Given the description of an element on the screen output the (x, y) to click on. 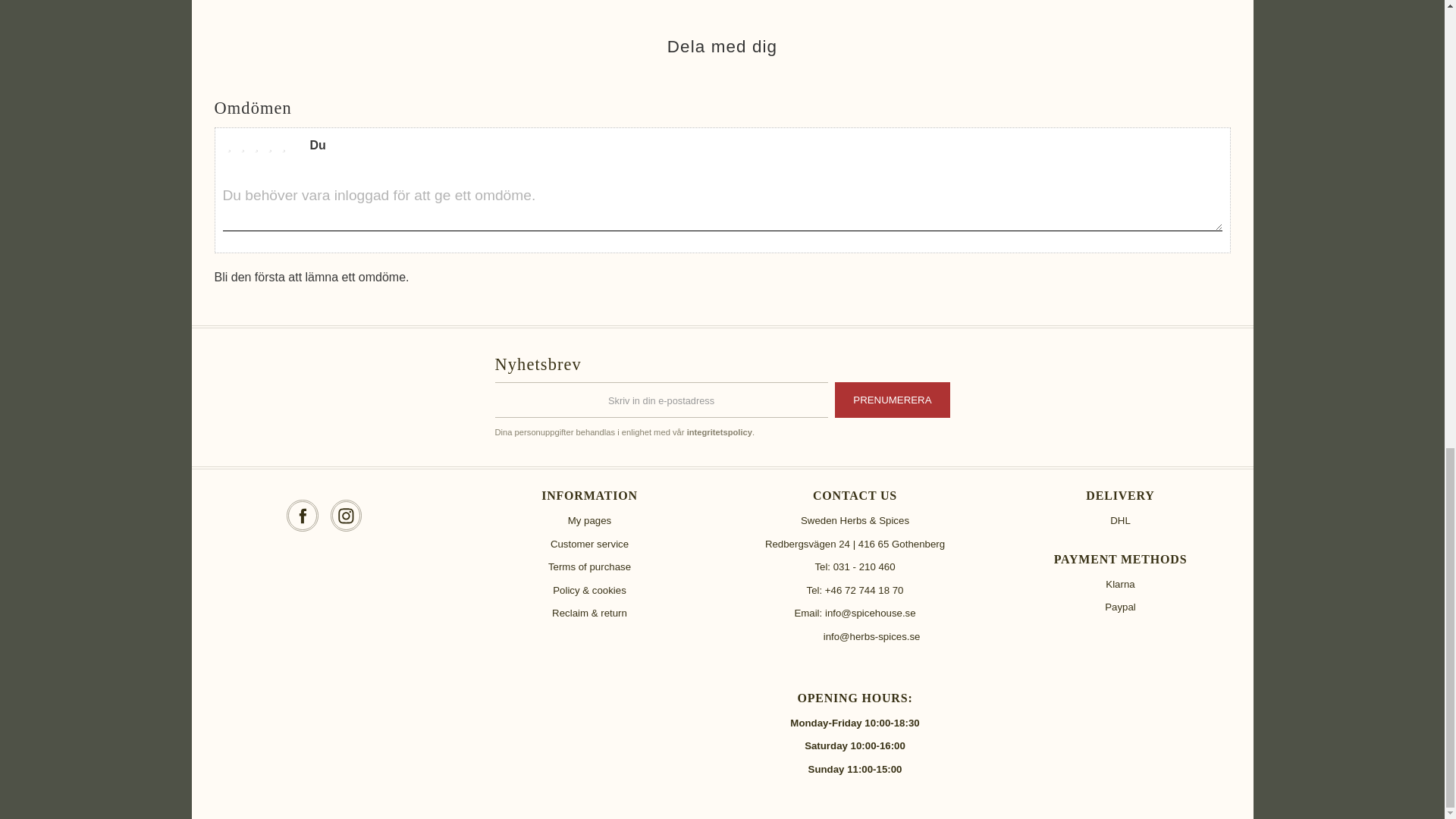
Instagram (345, 516)
Customer service (589, 543)
Terms of purchase (589, 566)
Tel: 031 - 210 460 (854, 567)
Facebook (303, 516)
PRENUMERERA (891, 399)
integritetspolicy (719, 431)
Email:  (809, 613)
My pages (589, 520)
